Given the description of an element on the screen output the (x, y) to click on. 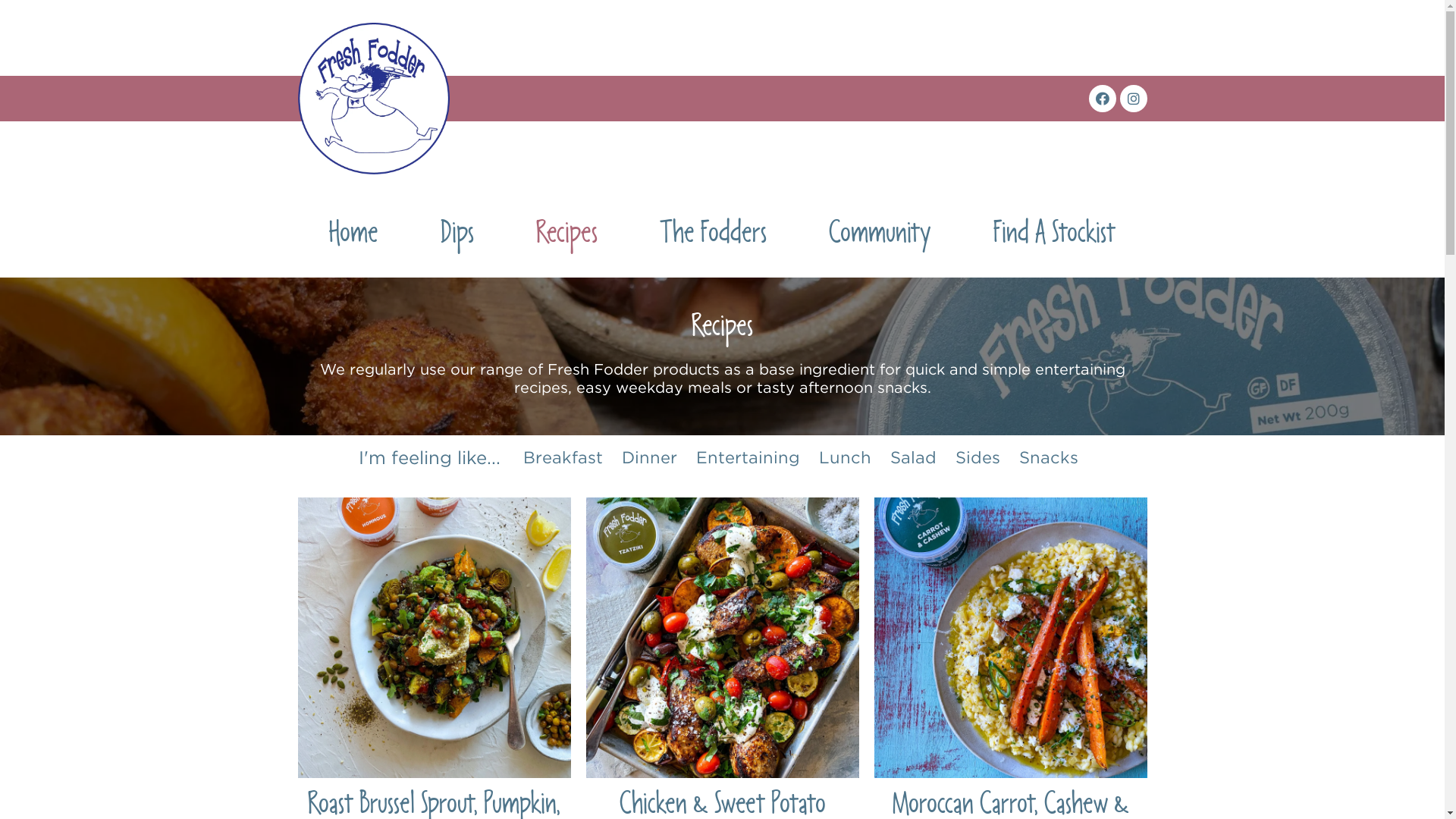
Home Element type: text (352, 236)
Community Element type: text (879, 236)
The Fodders Element type: text (712, 236)
Recipes Element type: text (566, 236)
Dips Element type: text (457, 236)
Find A Stockist Element type: text (1054, 236)
